Given the description of an element on the screen output the (x, y) to click on. 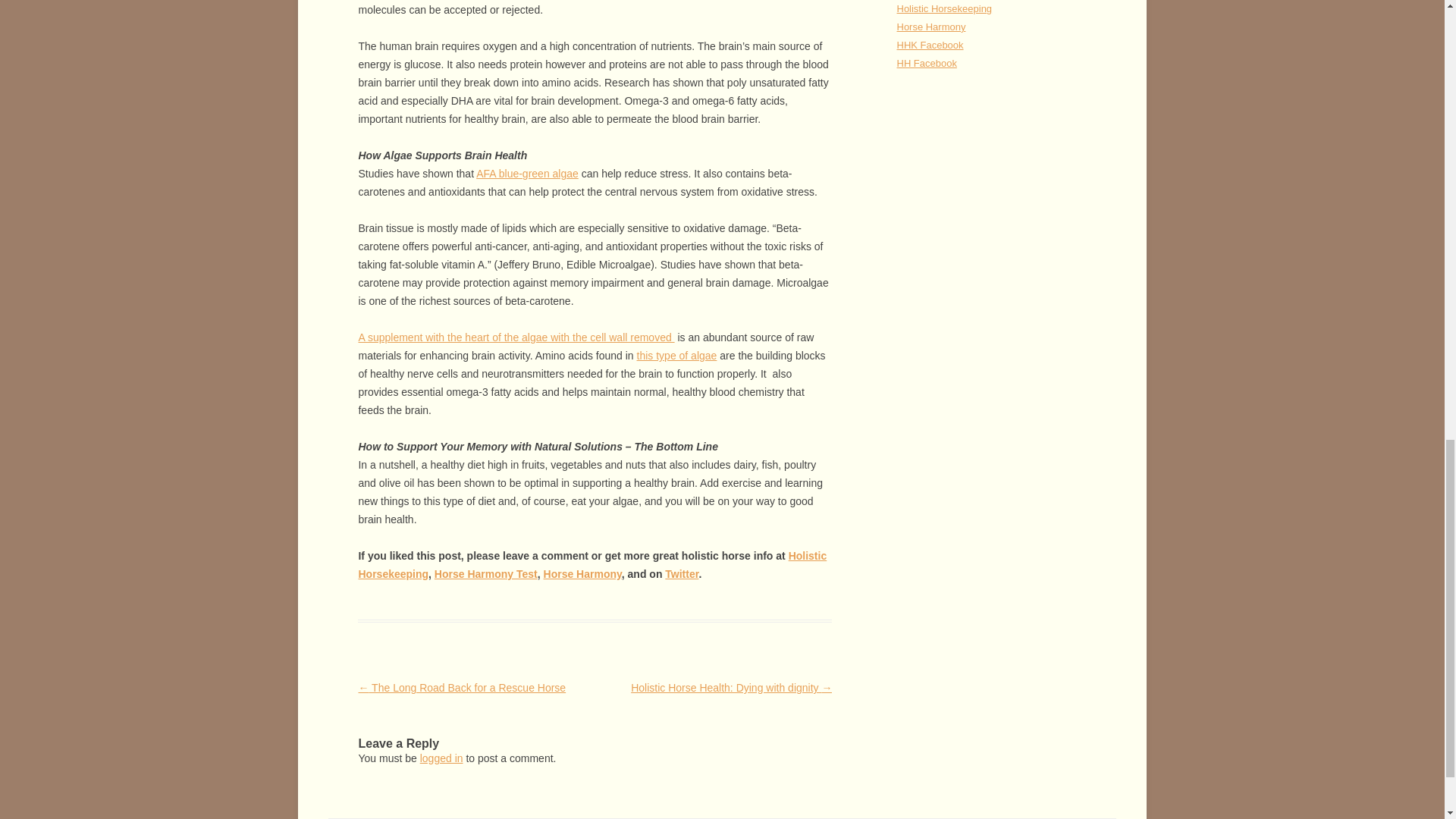
Horse Harmony Test (485, 573)
logged in (441, 758)
Twitter (681, 573)
AFA blue-green algae (527, 173)
Horse Harmony (582, 573)
this type of algae (677, 355)
Holistic Horsekeeping (592, 564)
